Given the description of an element on the screen output the (x, y) to click on. 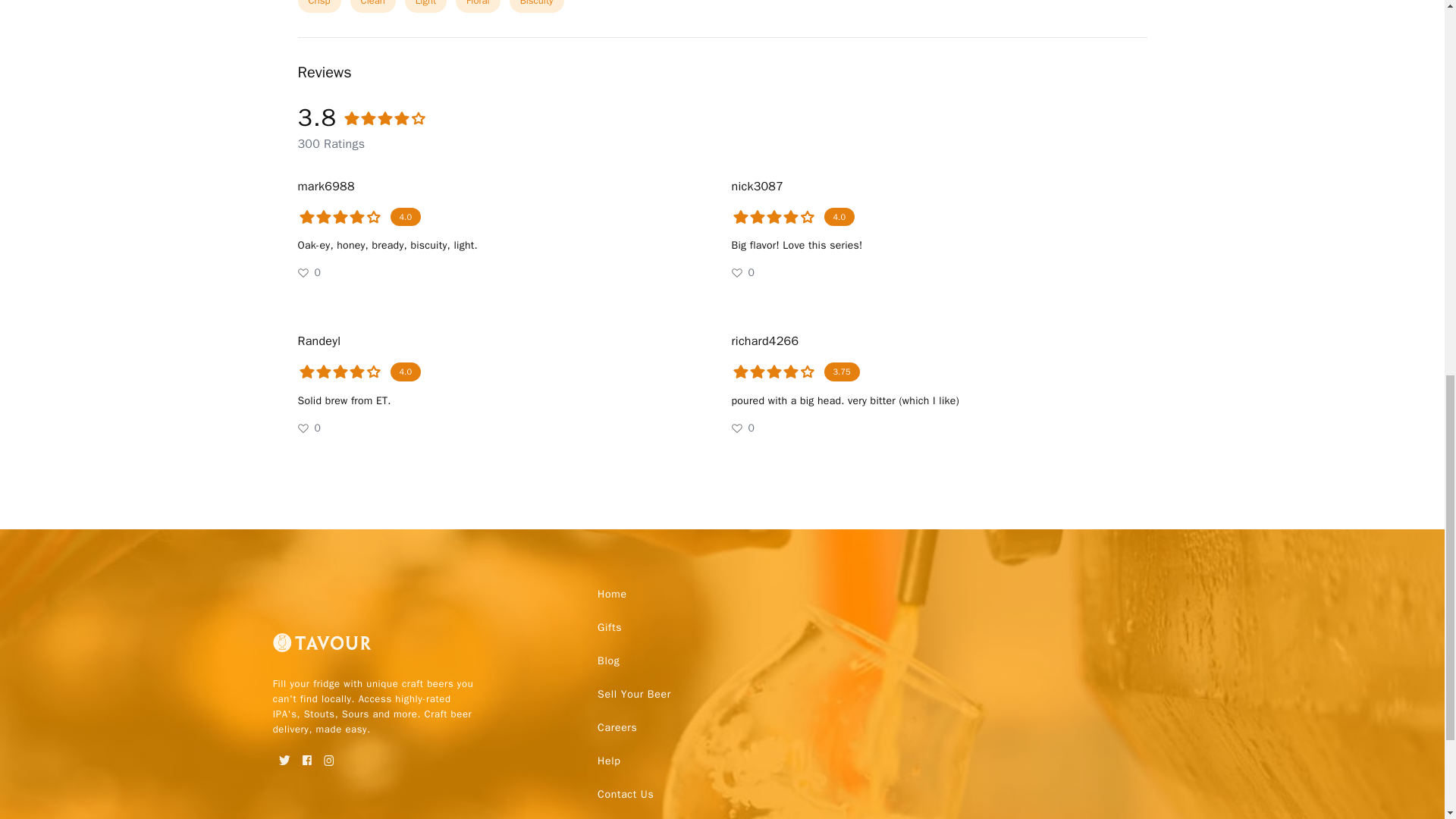
Careers (617, 727)
Careers (617, 727)
Tavour (322, 648)
sell your beer (633, 694)
home (612, 594)
Help (608, 761)
Help (608, 761)
Facebook (307, 755)
Gifts (609, 627)
Instagram (328, 755)
